Given the description of an element on the screen output the (x, y) to click on. 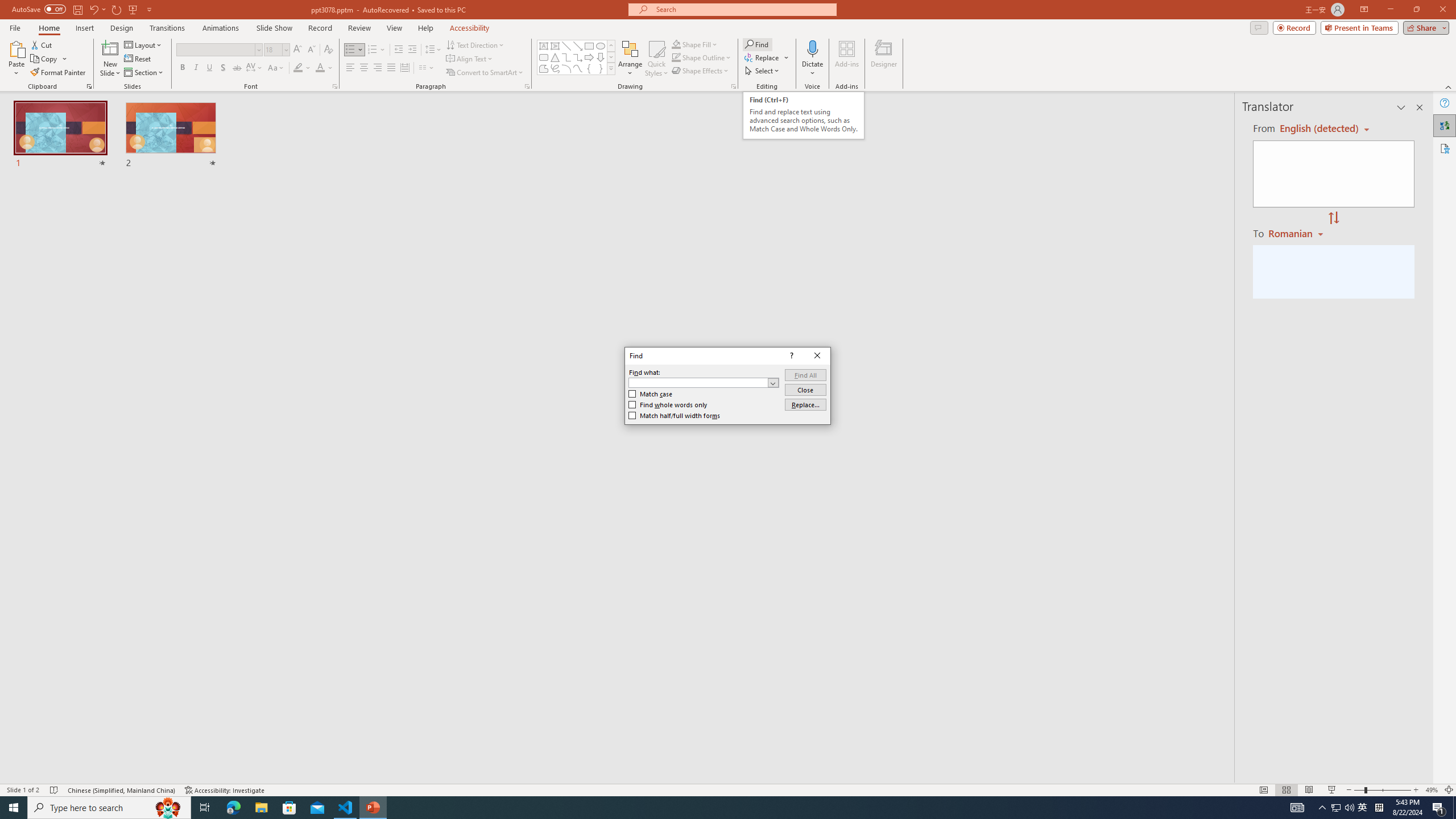
Find what (703, 382)
Find whole words only (667, 404)
